Given the description of an element on the screen output the (x, y) to click on. 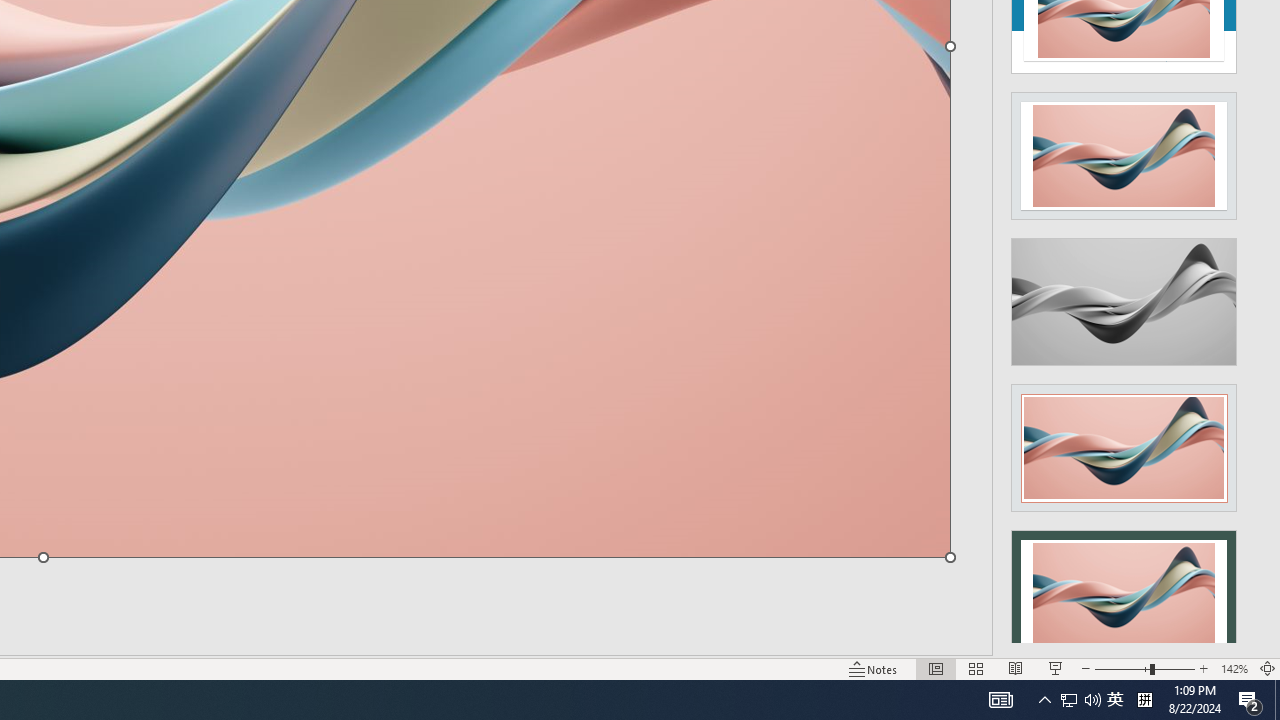
Design Idea (1124, 587)
Zoom 142% (1234, 668)
